Given the description of an element on the screen output the (x, y) to click on. 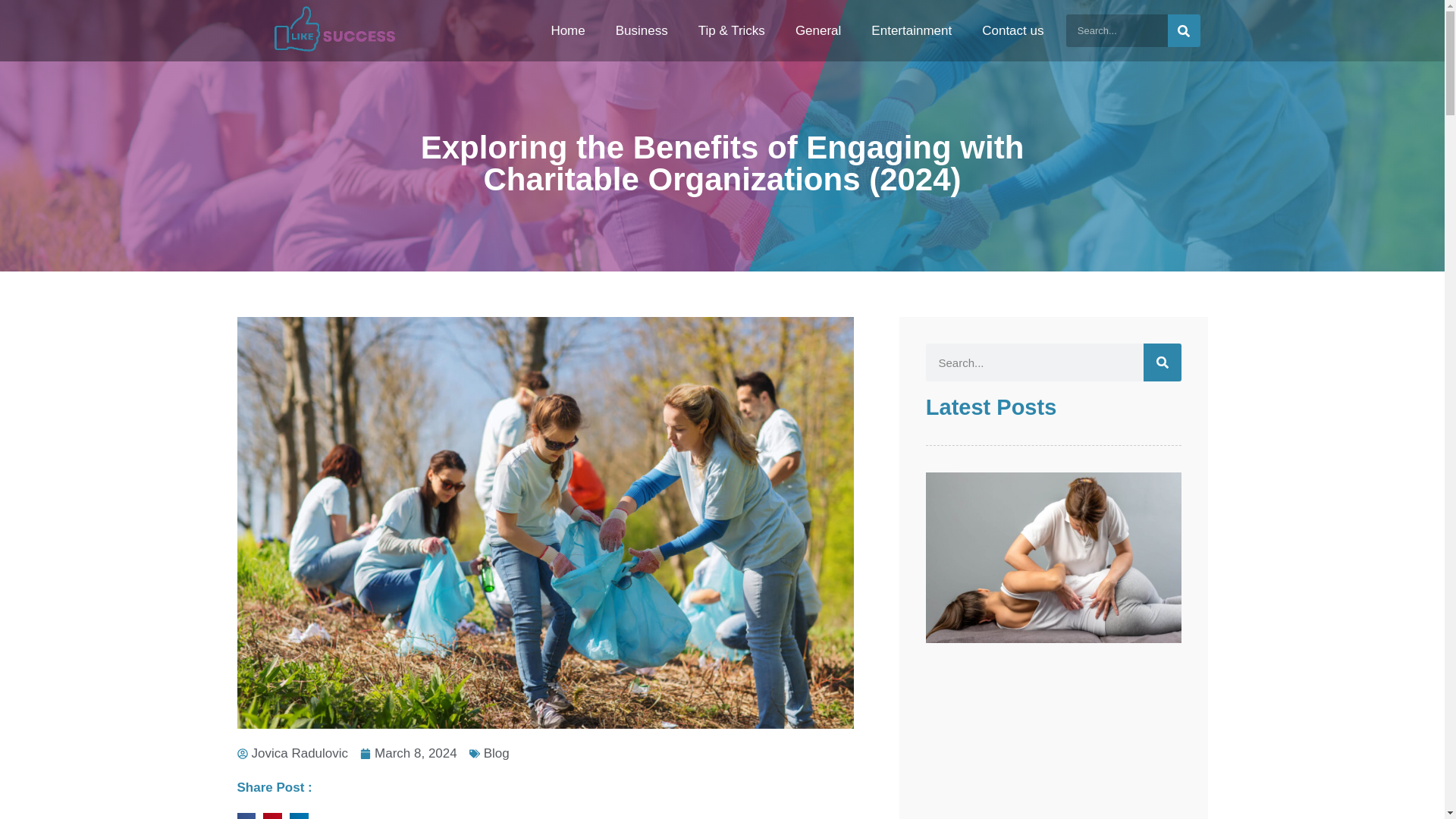
Entertainment (911, 30)
Home (567, 30)
Business (640, 30)
Contact us (1012, 30)
Jovica Radulovic (291, 753)
March 8, 2024 (408, 753)
Blog (496, 753)
General (818, 30)
